Given the description of an element on the screen output the (x, y) to click on. 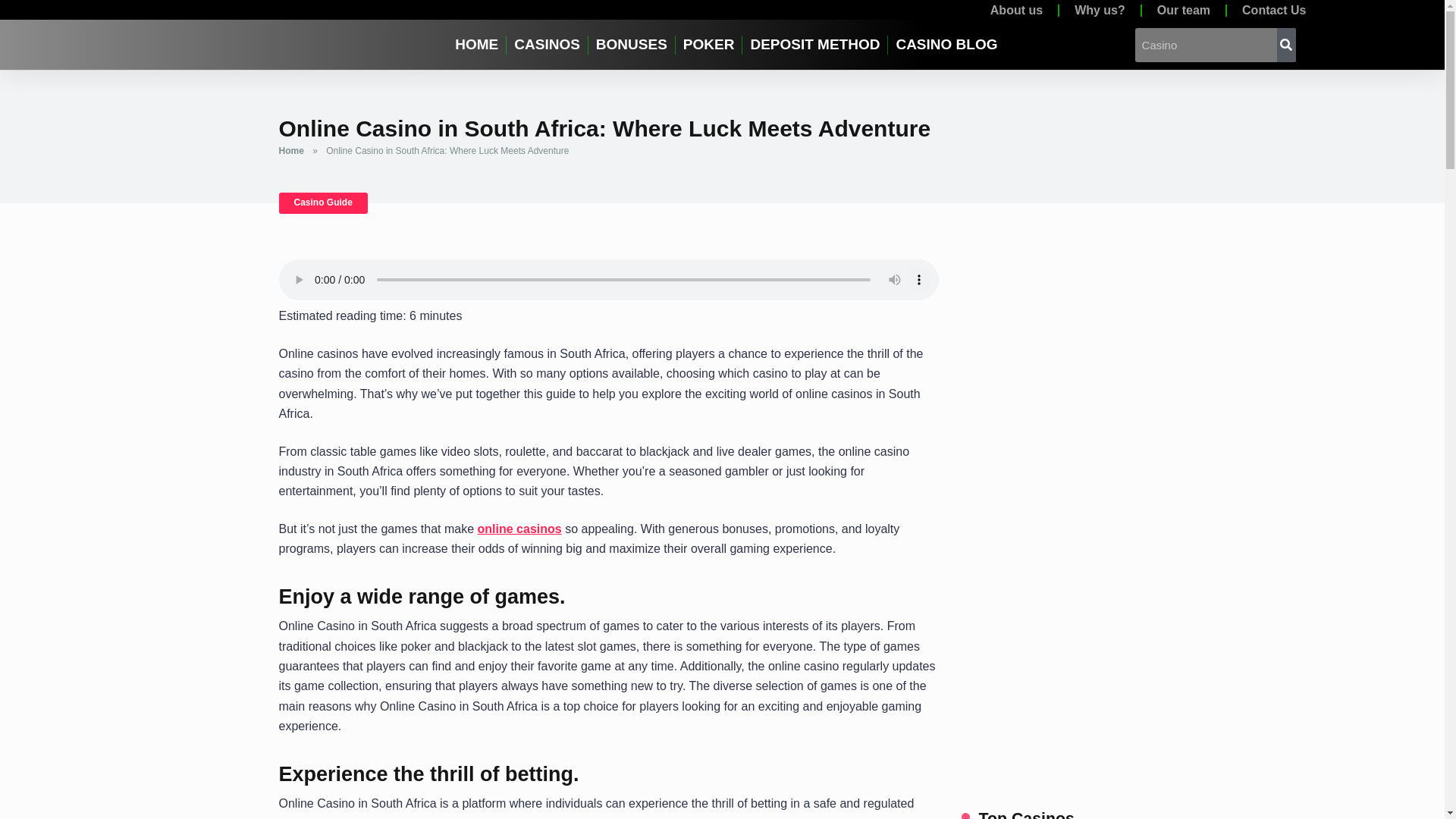
DEPOSIT METHOD (814, 44)
POKER (708, 44)
BONUSES (631, 44)
Our team (1183, 13)
CASINOS (547, 44)
About us (1016, 13)
Why us? (1099, 13)
HOME (475, 44)
CASINO BLOG (946, 44)
Contact Us (1273, 13)
